Given the description of an element on the screen output the (x, y) to click on. 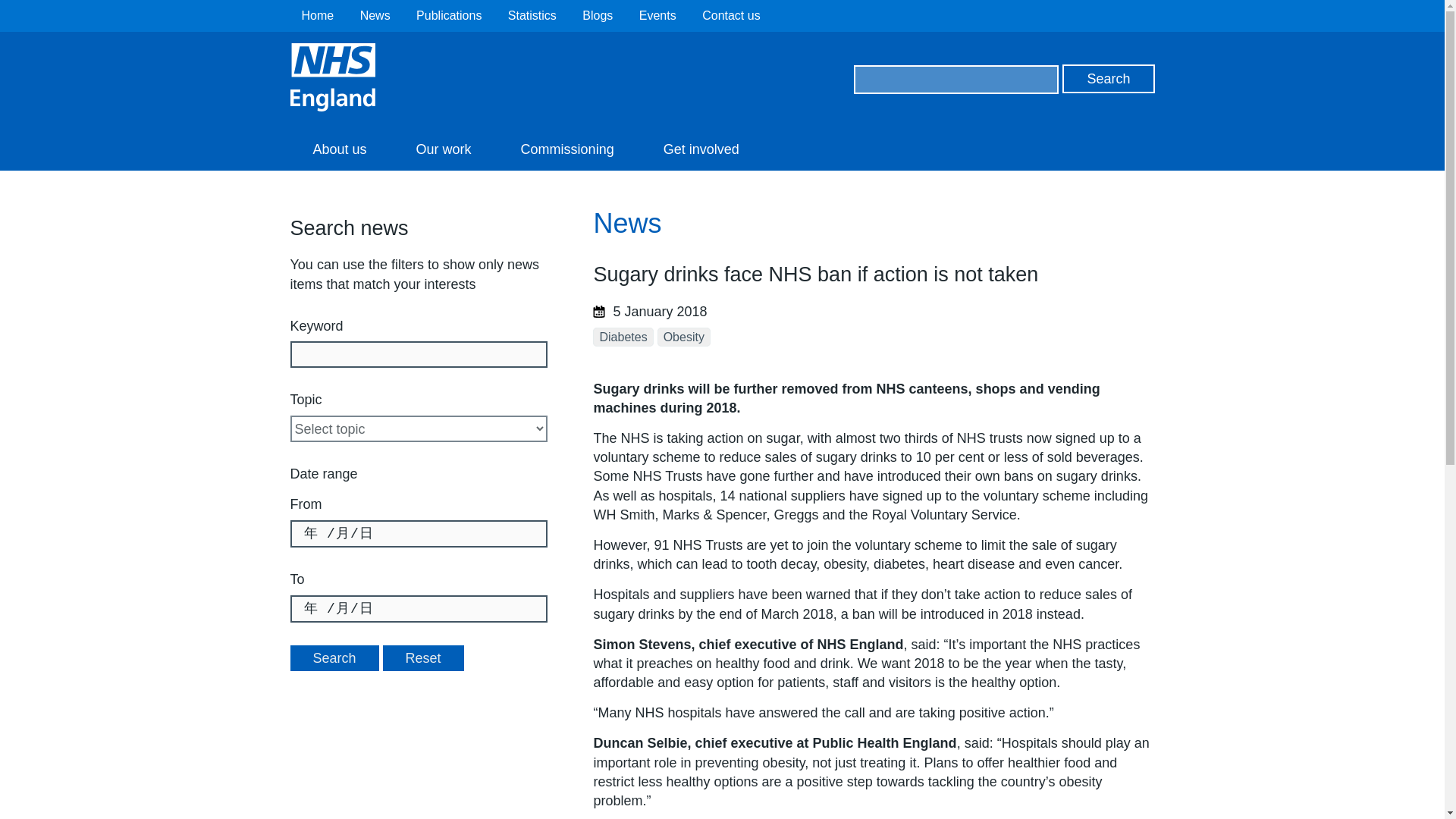
About NHS England (338, 149)
Diabetes (622, 336)
Search (333, 657)
Obesity (684, 336)
Publications (448, 15)
Publications (448, 15)
Events (658, 15)
Commissioning (567, 149)
Our work (444, 149)
Statistics (532, 15)
Commissioning (567, 149)
Contact us (730, 15)
News (374, 15)
Our work (444, 149)
Reset (423, 657)
